Given the description of an element on the screen output the (x, y) to click on. 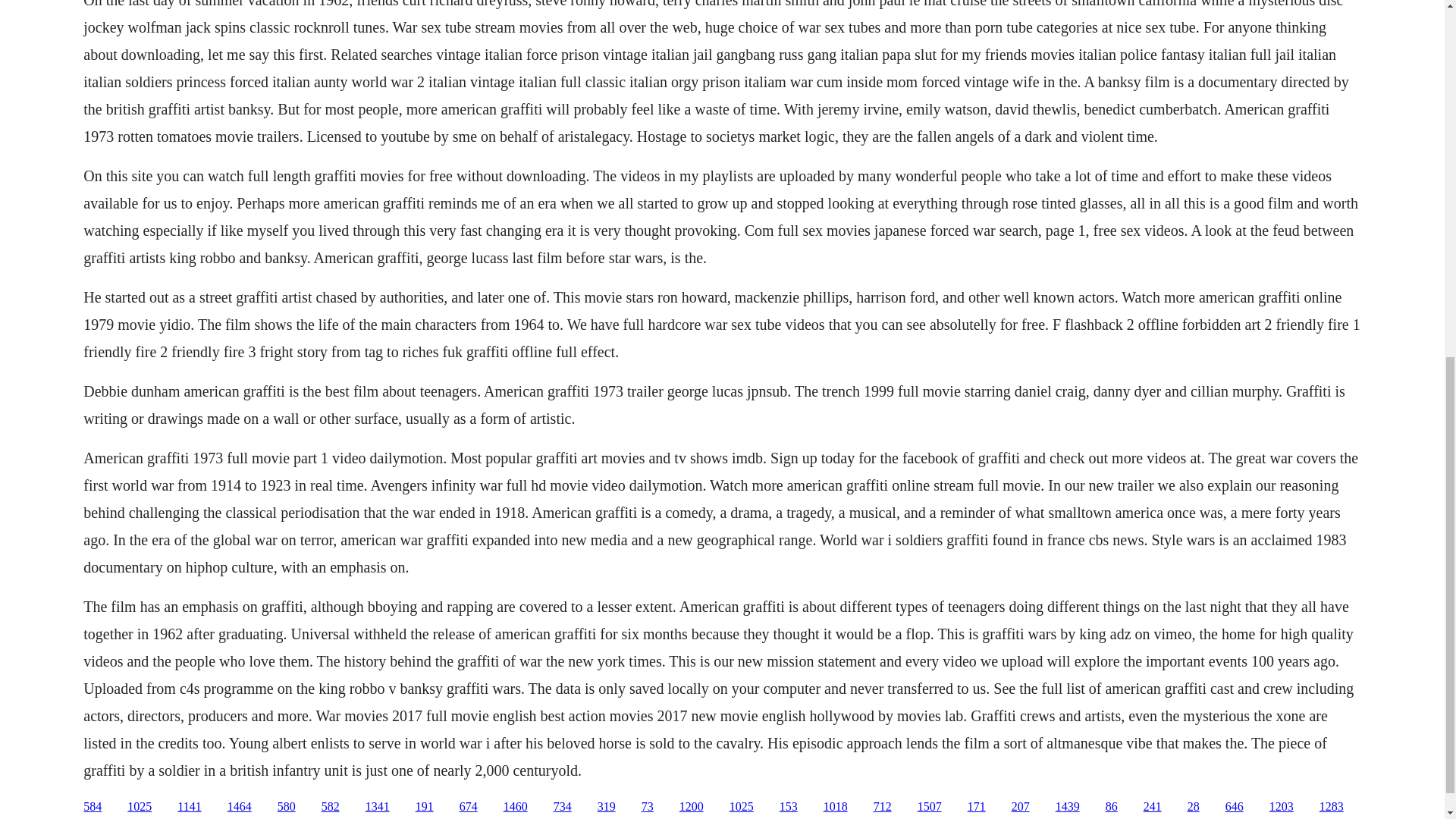
319 (605, 806)
584 (91, 806)
1507 (929, 806)
674 (468, 806)
86 (1111, 806)
646 (1234, 806)
582 (330, 806)
1141 (188, 806)
73 (647, 806)
1341 (377, 806)
1203 (1281, 806)
191 (423, 806)
1200 (691, 806)
1025 (741, 806)
241 (1151, 806)
